Given the description of an element on the screen output the (x, y) to click on. 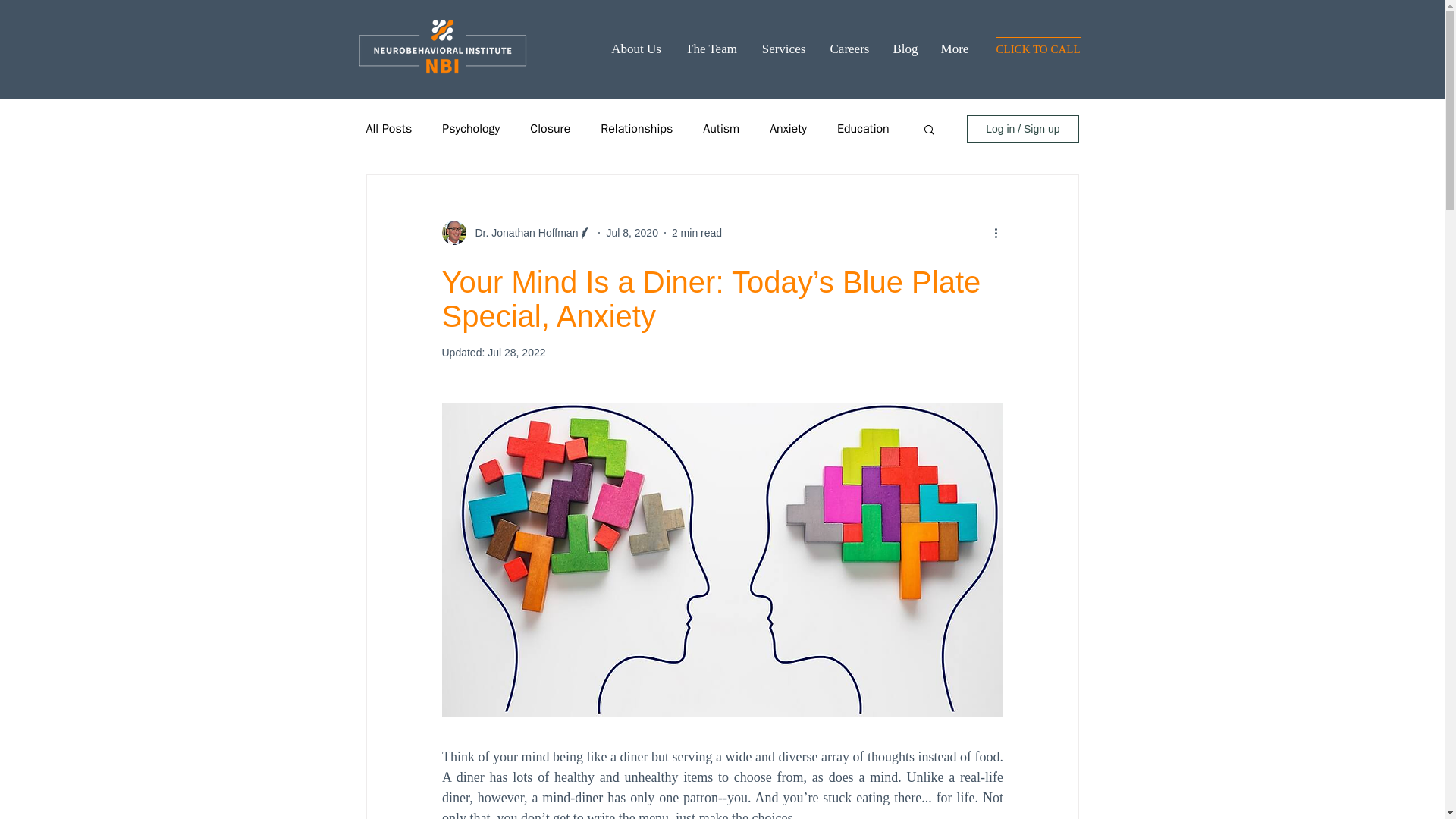
2 min read (696, 232)
CLICK TO CALL (1037, 48)
The Team (710, 49)
Closure (549, 129)
Jul 8, 2020 (631, 232)
Autism (721, 129)
Education (863, 129)
Psychology (470, 129)
Blog (904, 49)
Services (782, 49)
About Us (635, 49)
Careers (848, 49)
Relationships (635, 129)
All Posts (388, 129)
Anxiety (788, 129)
